Given the description of an element on the screen output the (x, y) to click on. 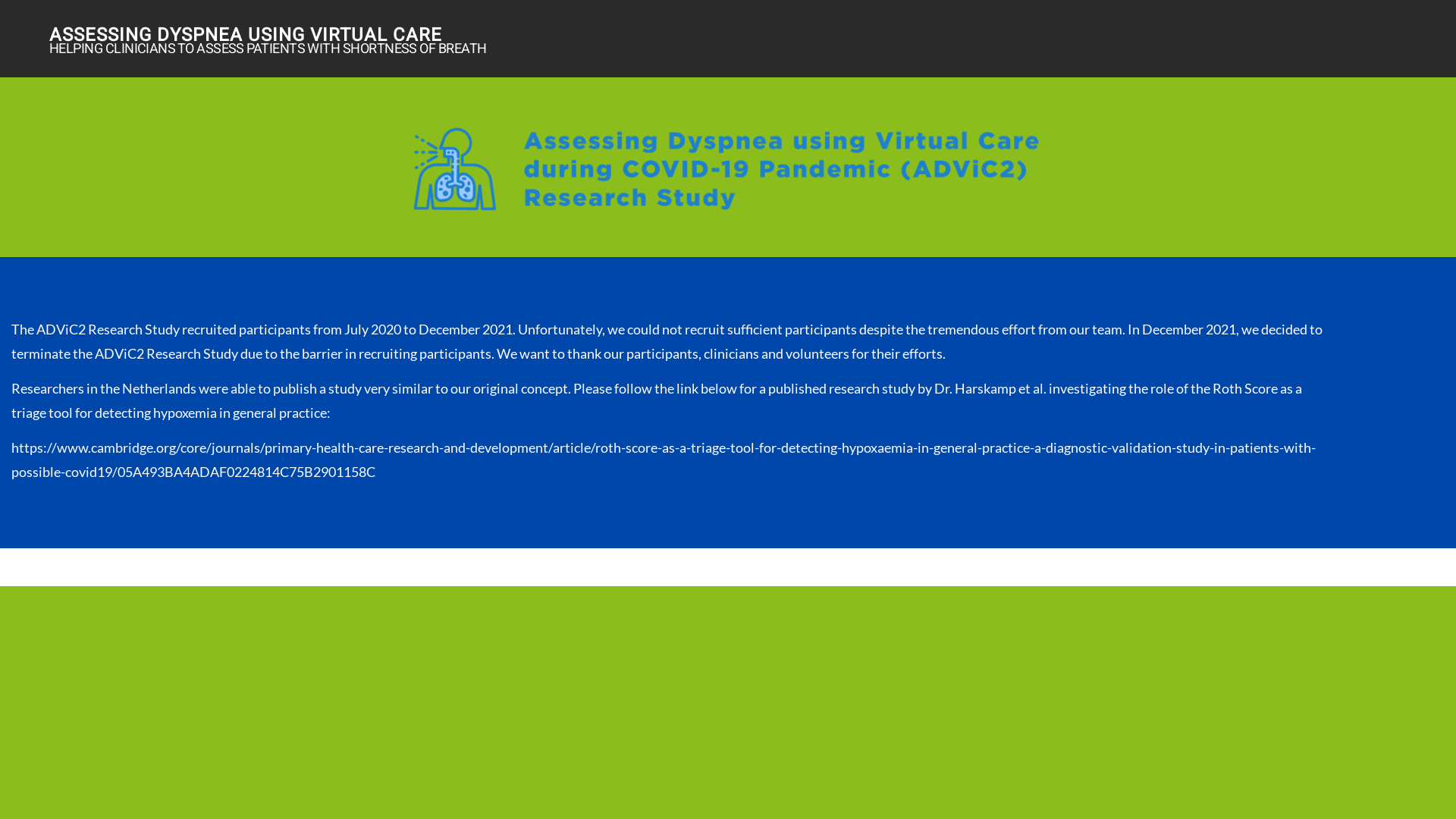
ASSESSING DYSPNEA USING VIRTUAL CARE Element type: text (245, 34)
